Given the description of an element on the screen output the (x, y) to click on. 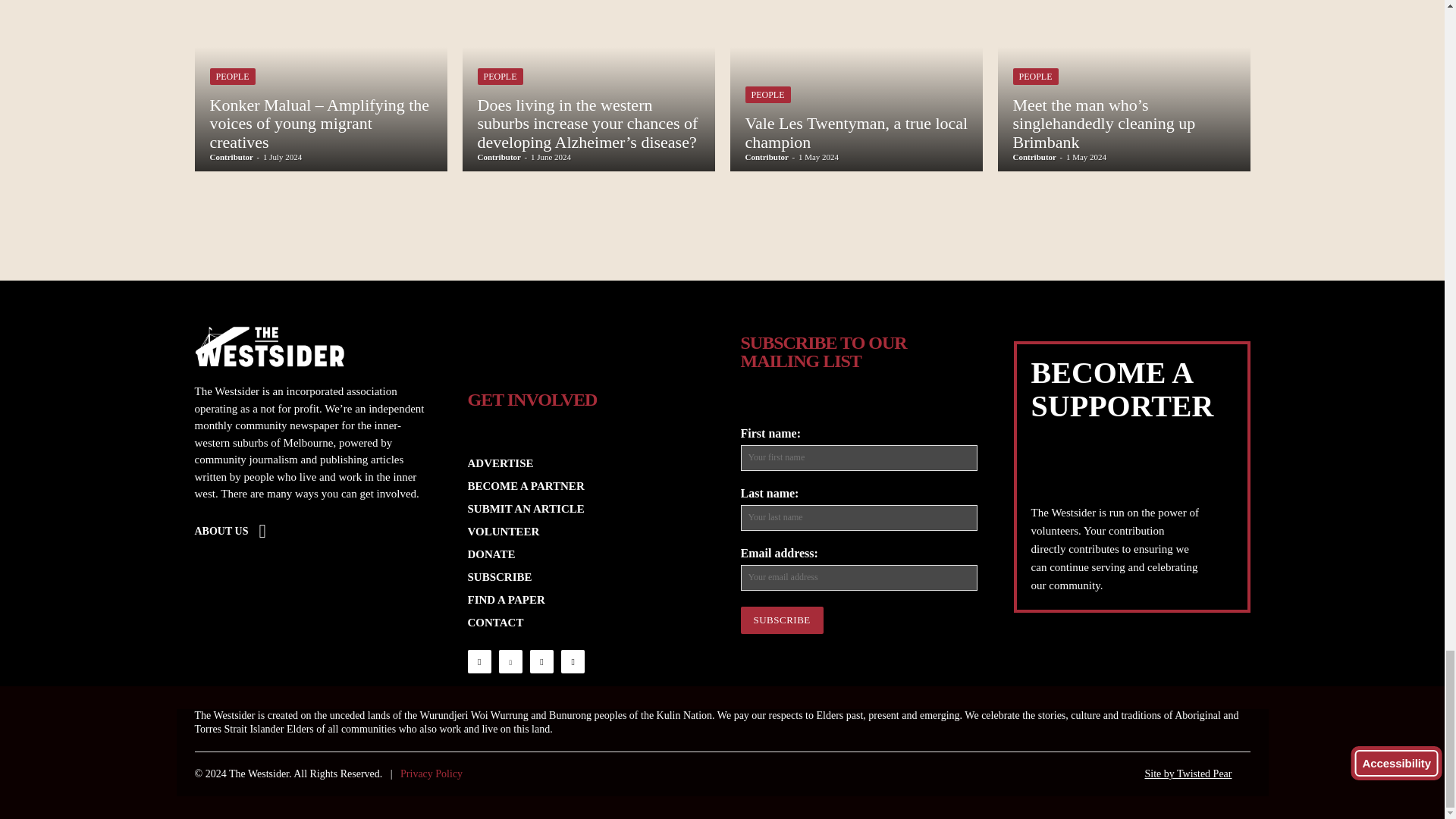
Subscribe (780, 619)
